Given the description of an element on the screen output the (x, y) to click on. 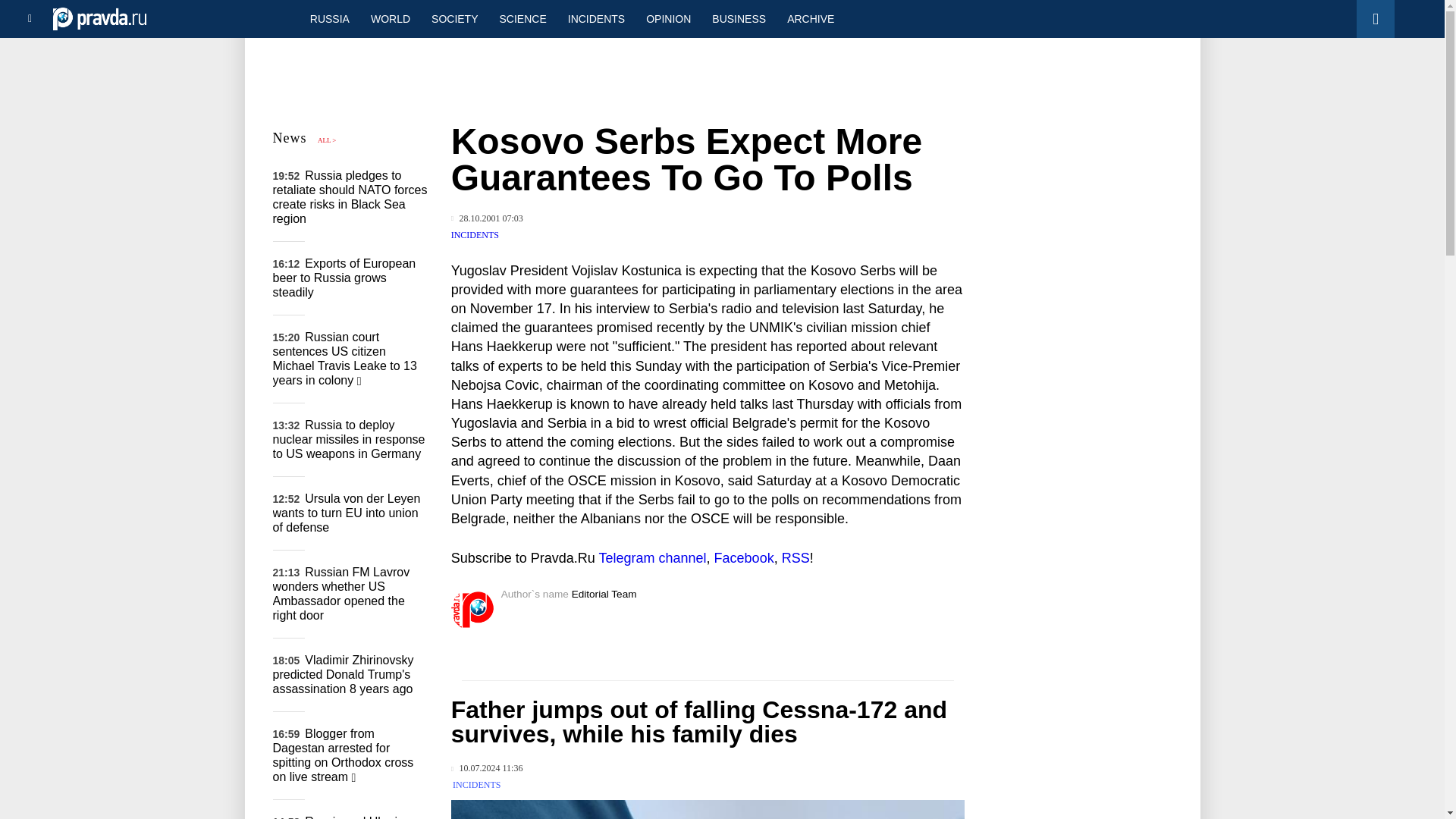
Telegram channel (652, 557)
SOCIETY (453, 18)
ARCHIVE (810, 18)
WORLD (389, 18)
SCIENCE (523, 18)
Published (486, 767)
Ursula von der Leyen wants to turn EU into union of defense (346, 512)
OPINION (667, 18)
INCIDENTS (595, 18)
Editorial Team (604, 593)
BUSINESS (738, 18)
